Given the description of an element on the screen output the (x, y) to click on. 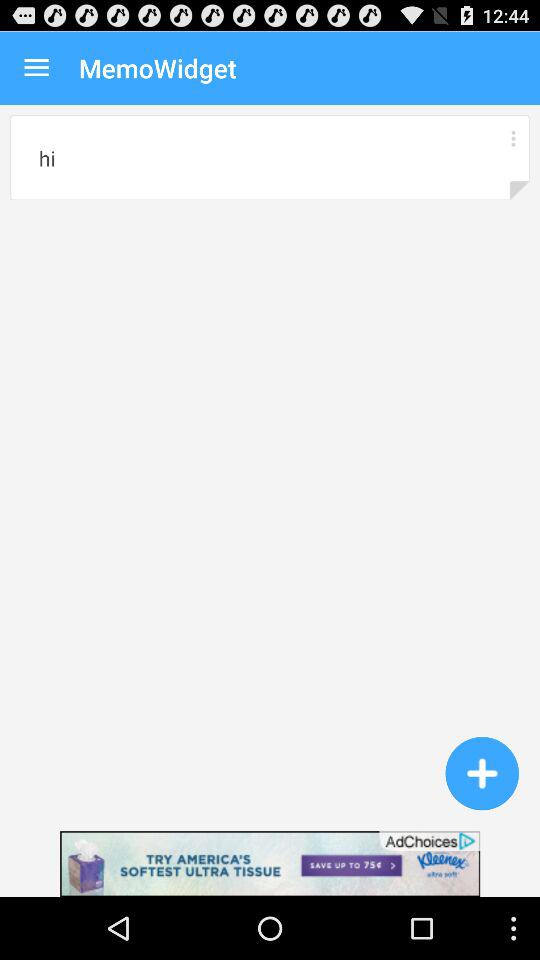
go to manu (512, 138)
